Given the description of an element on the screen output the (x, y) to click on. 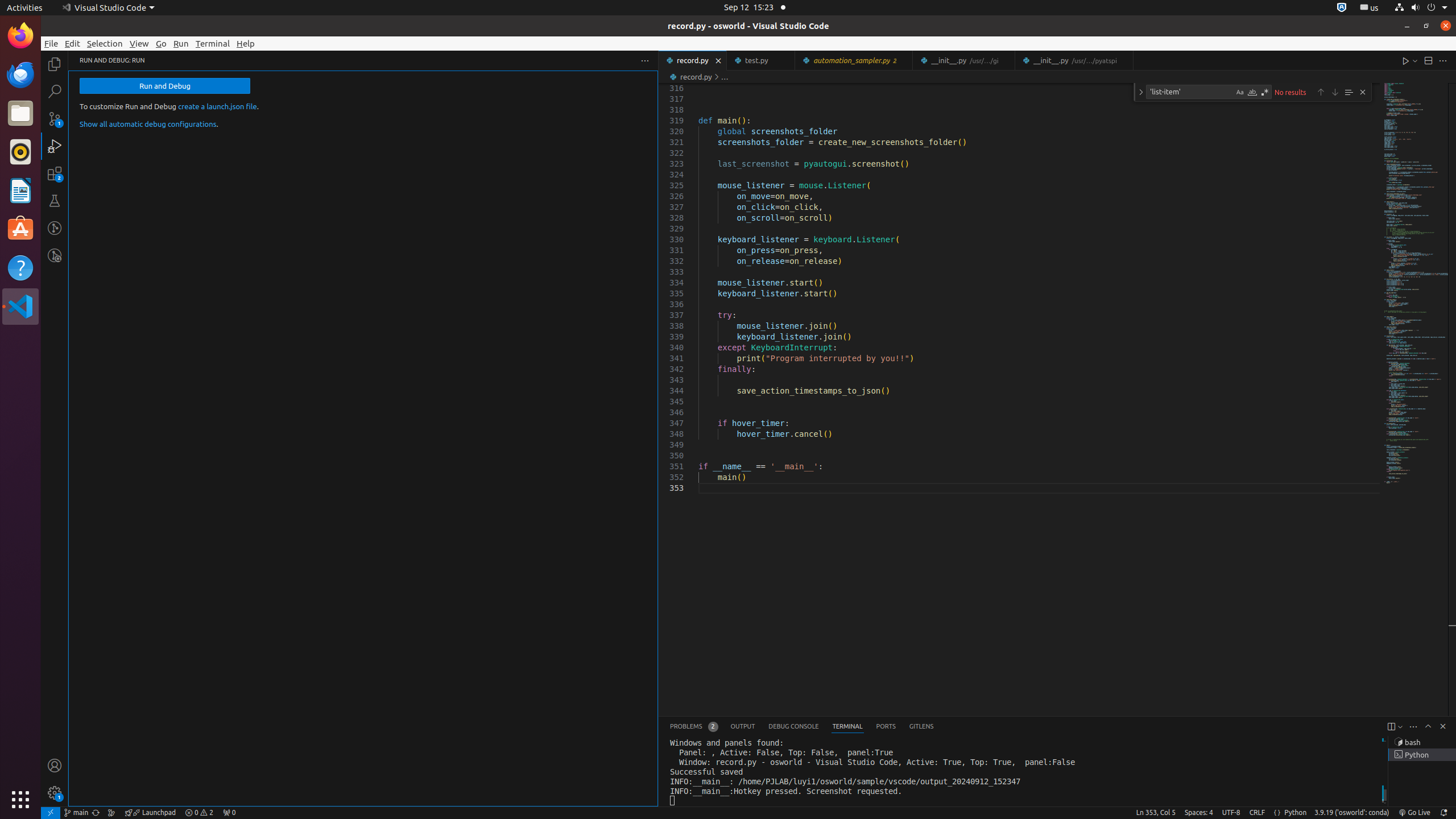
Next Match (Enter) Element type: push-button (1334, 91)
Terminal 5 Python Element type: list-item (1422, 754)
Terminal 1 bash Element type: list-item (1422, 741)
Active View Switcher Element type: page-tab-list (801, 726)
3.9.19 ('osworld': conda), ~/anaconda3/envs/osworld/bin/python Element type: push-button (1351, 812)
